Given the description of an element on the screen output the (x, y) to click on. 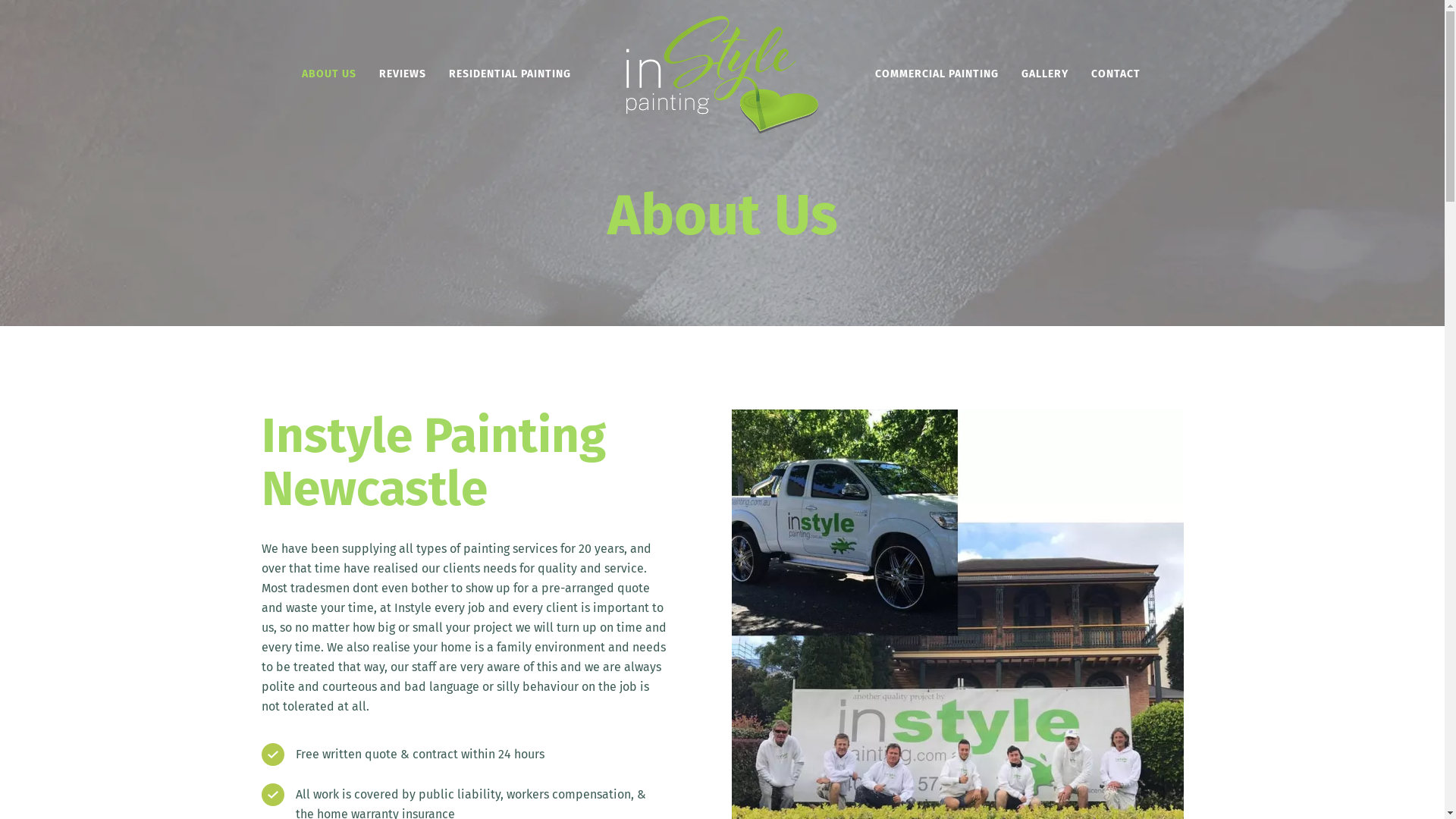
RESIDENTIAL PAINTING Element type: text (509, 73)
GALLERY Element type: text (1044, 73)
ABOUT US Element type: text (328, 73)
CONTACT Element type: text (1115, 73)
InStyle Painting Element type: hover (722, 73)
COMMERCIAL PAINTING Element type: text (936, 73)
REVIEWS Element type: text (402, 73)
